Given the description of an element on the screen output the (x, y) to click on. 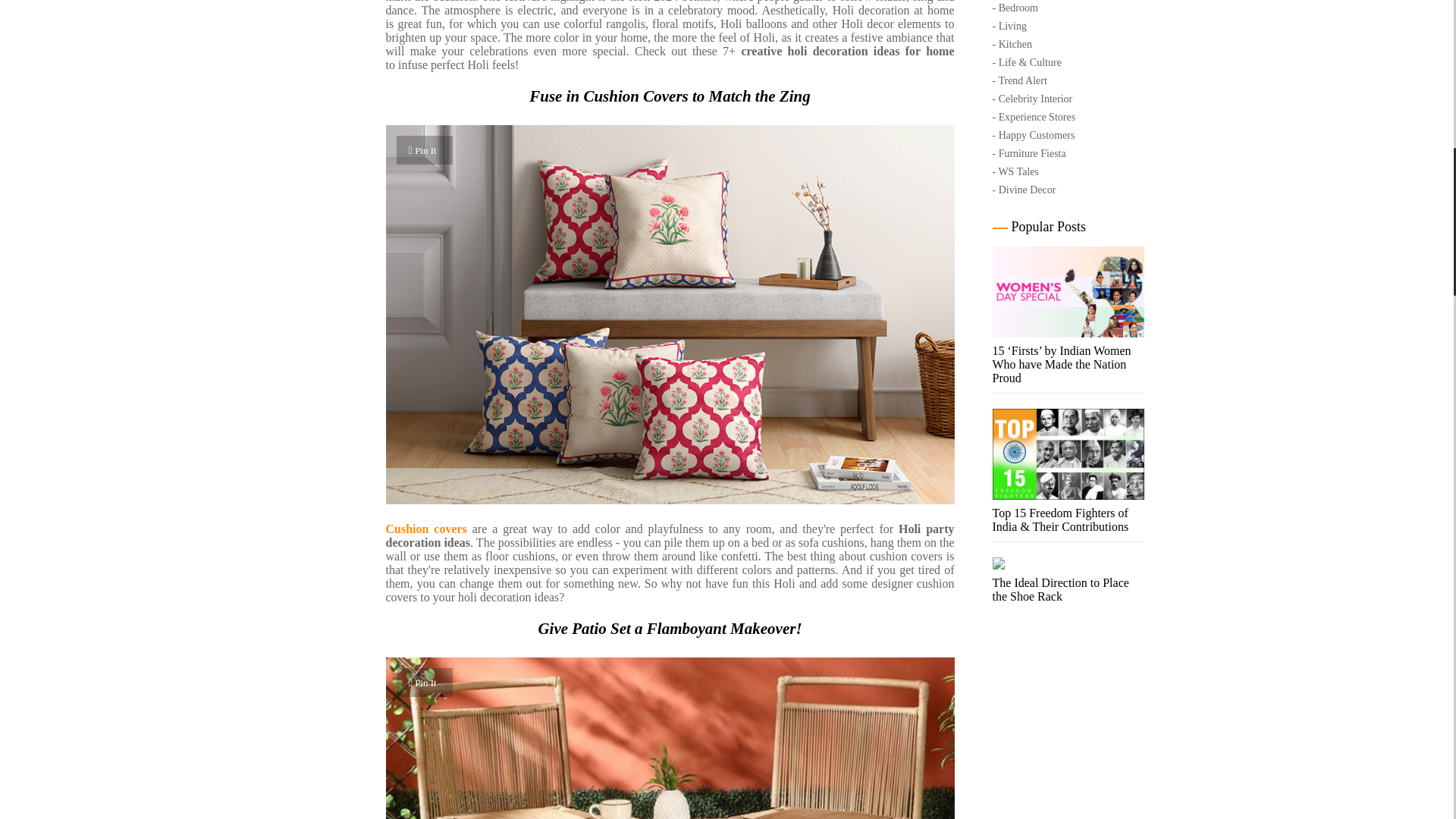
Patio Set (669, 738)
